Given the description of an element on the screen output the (x, y) to click on. 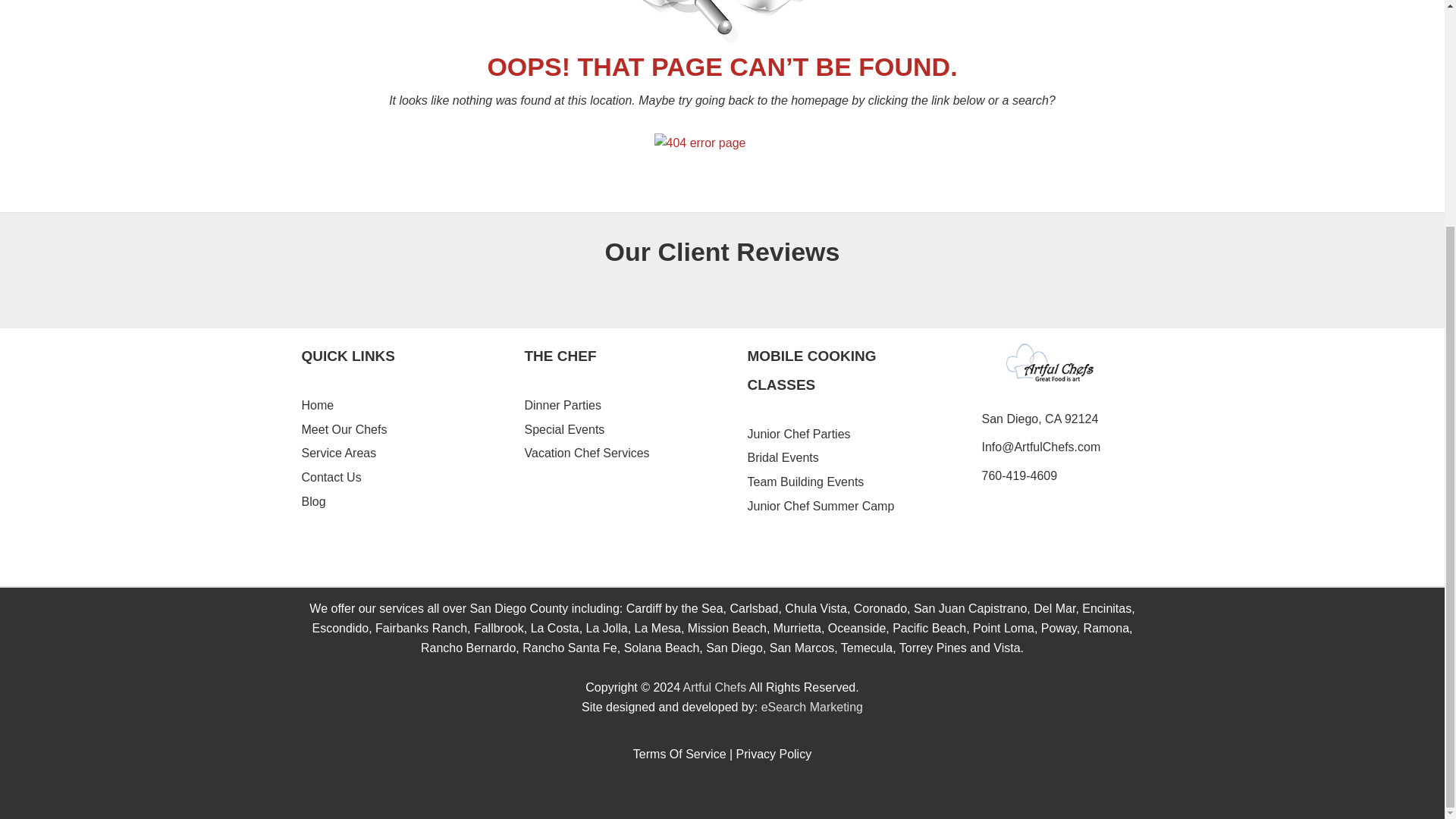
Artful Chefs  Yelp (740, 800)
artful chefs 404 page (721, 21)
Home (317, 404)
Artful Chefs  Youtube (708, 800)
artful chefs 404 page (721, 150)
Artful Chefs Facebook (654, 800)
Artful Chefs Linkedin (681, 800)
Meet Our Chefs (344, 429)
Artful Chefs  Flickr (772, 800)
